Given the description of an element on the screen output the (x, y) to click on. 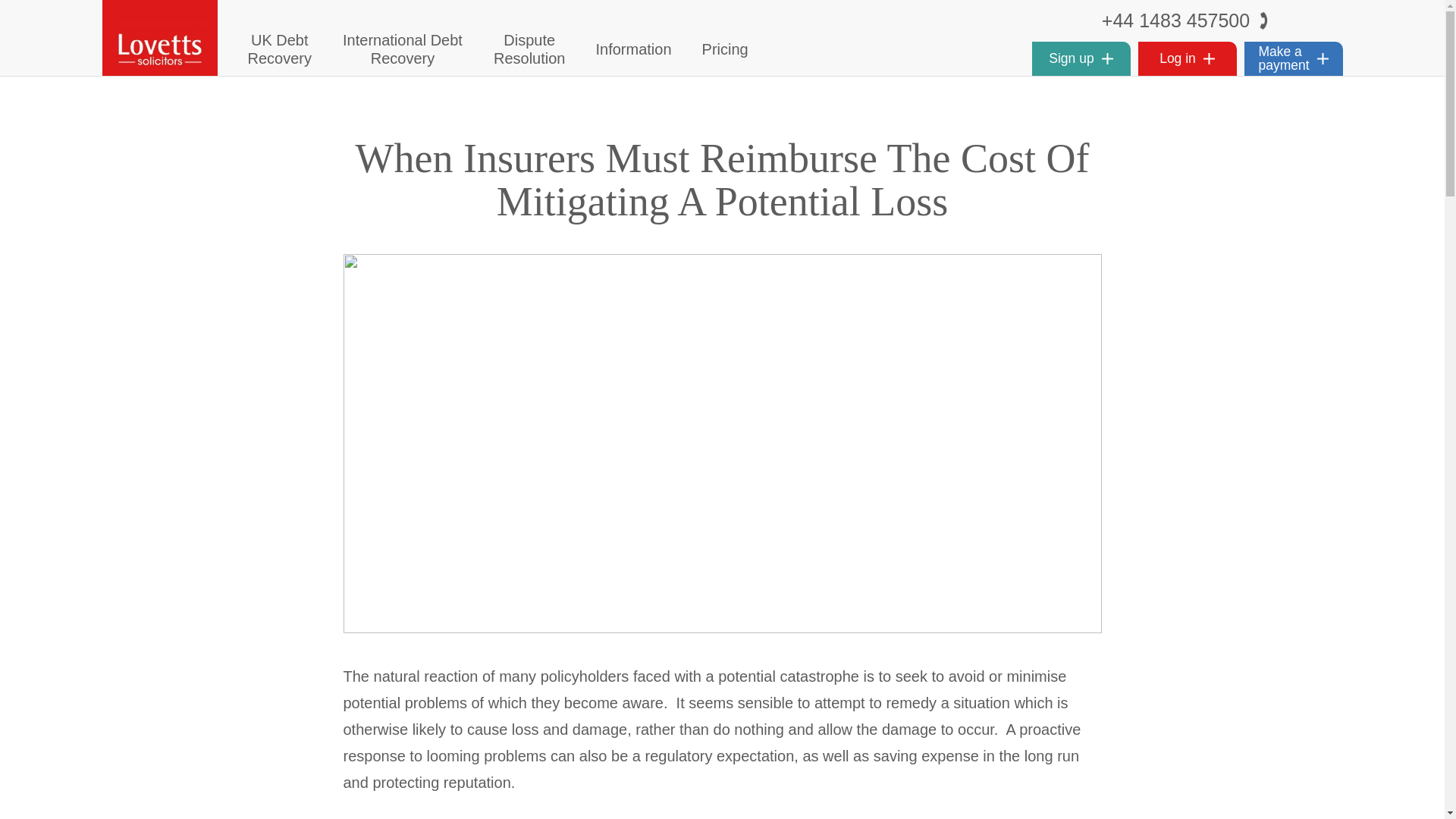
Sign up (1079, 58)
Make a payment (279, 48)
International Debt Recovery (1292, 58)
Log in (402, 48)
Pricing (1186, 58)
Information (529, 48)
